Given the description of an element on the screen output the (x, y) to click on. 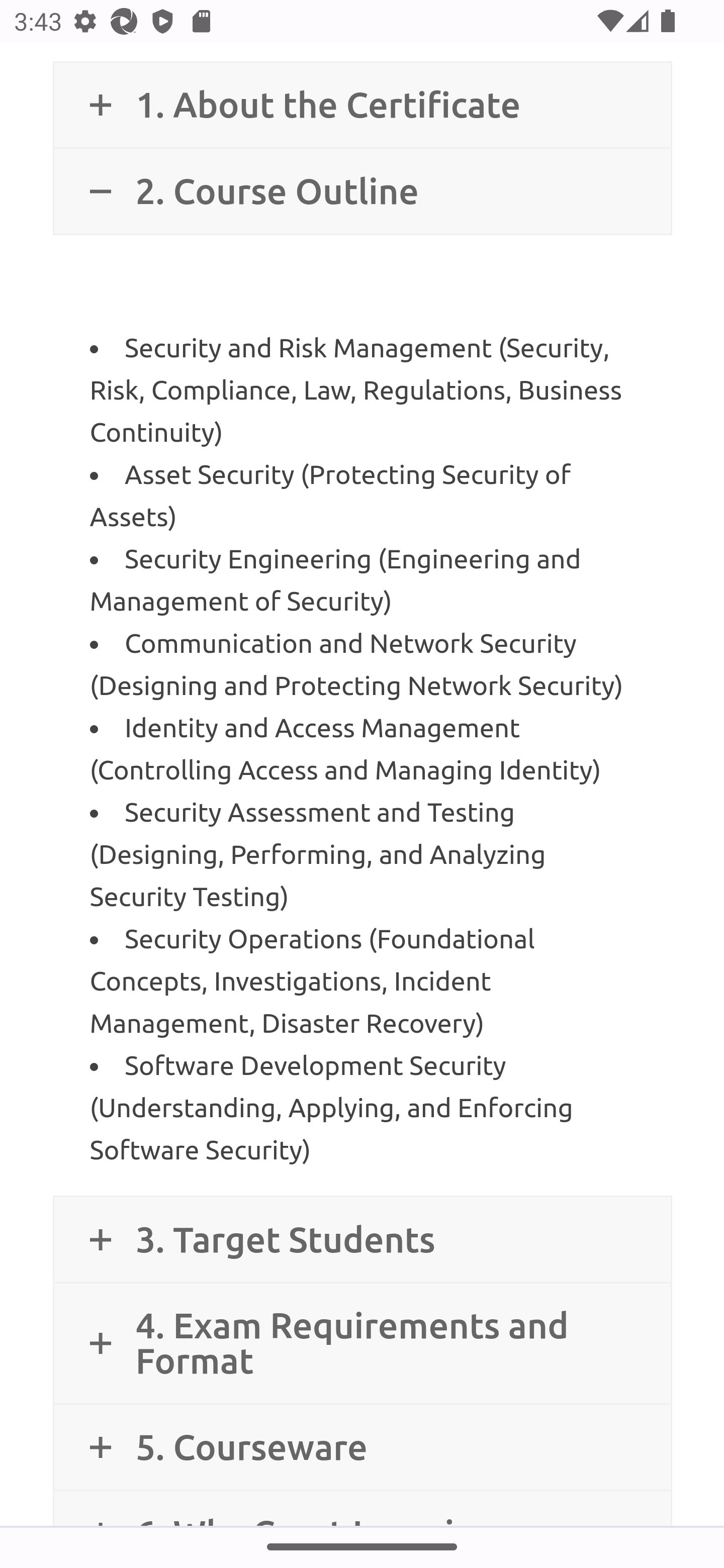
5. Courseware 5. Courseware 5. Courseware (361, 1446)
